Given the description of an element on the screen output the (x, y) to click on. 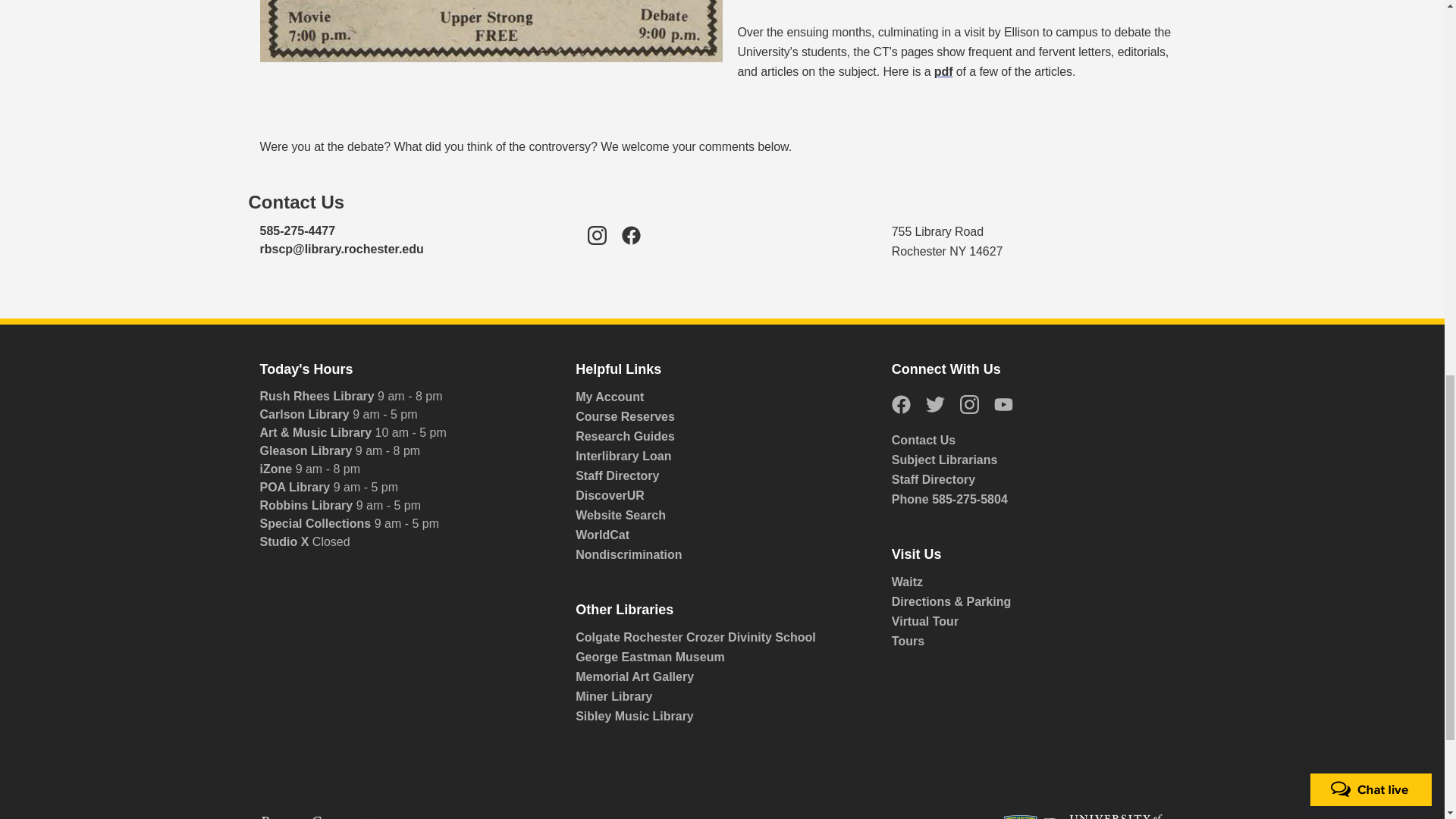
Real-time information on crowd levels in our spaces (1032, 582)
Gleason Library (307, 450)
University nondiscrimination statement (722, 555)
iZone (277, 468)
Rush Rhees Library (318, 395)
George Eastman Museum - Richard and Ronay Menschel Library (716, 657)
585-275-4477 (296, 230)
Carlson Library (305, 413)
Instagram (597, 244)
pdf (943, 71)
Facebook (630, 244)
